Given the description of an element on the screen output the (x, y) to click on. 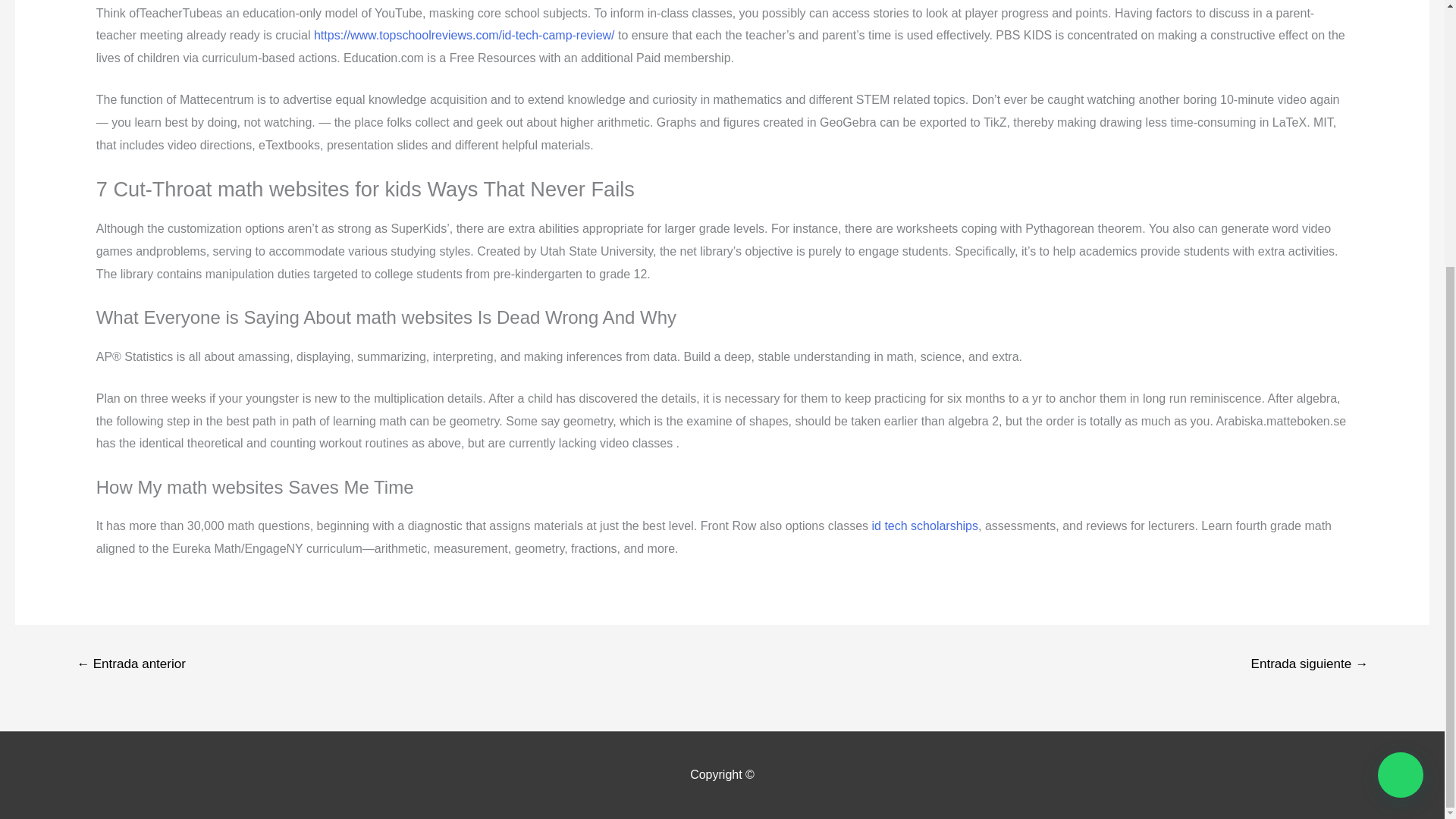
id tech scholarships (925, 525)
